Given the description of an element on the screen output the (x, y) to click on. 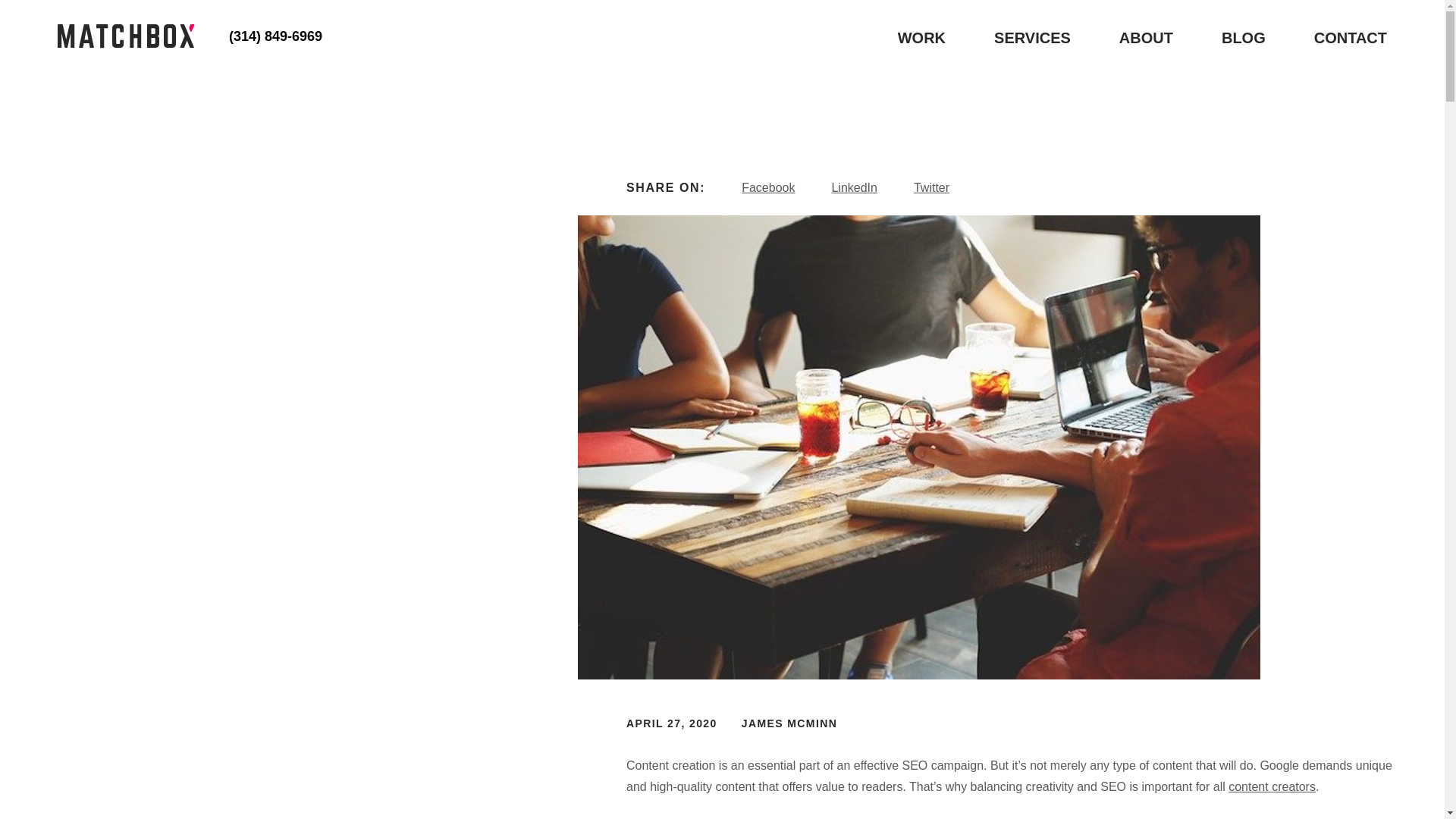
BLOG (1243, 37)
Facebook (767, 187)
Twitter (931, 187)
WORK (921, 37)
LinkedIn (853, 187)
ABOUT (1146, 37)
SERVICES (1032, 37)
content creators (1272, 786)
CONTACT (1350, 37)
